Given the description of an element on the screen output the (x, y) to click on. 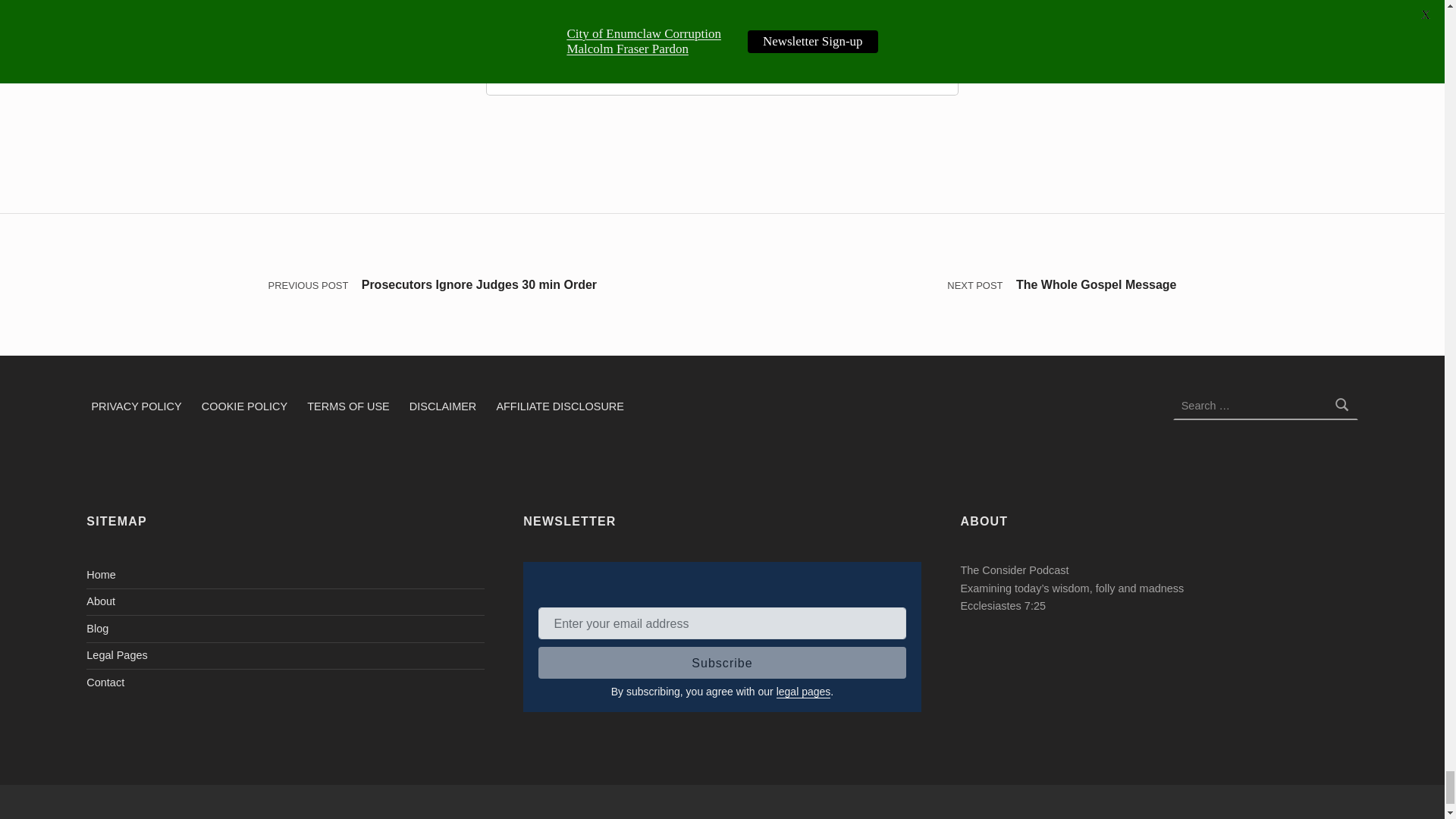
Twilliams (526, 41)
Subscribe (721, 662)
